Given the description of an element on the screen output the (x, y) to click on. 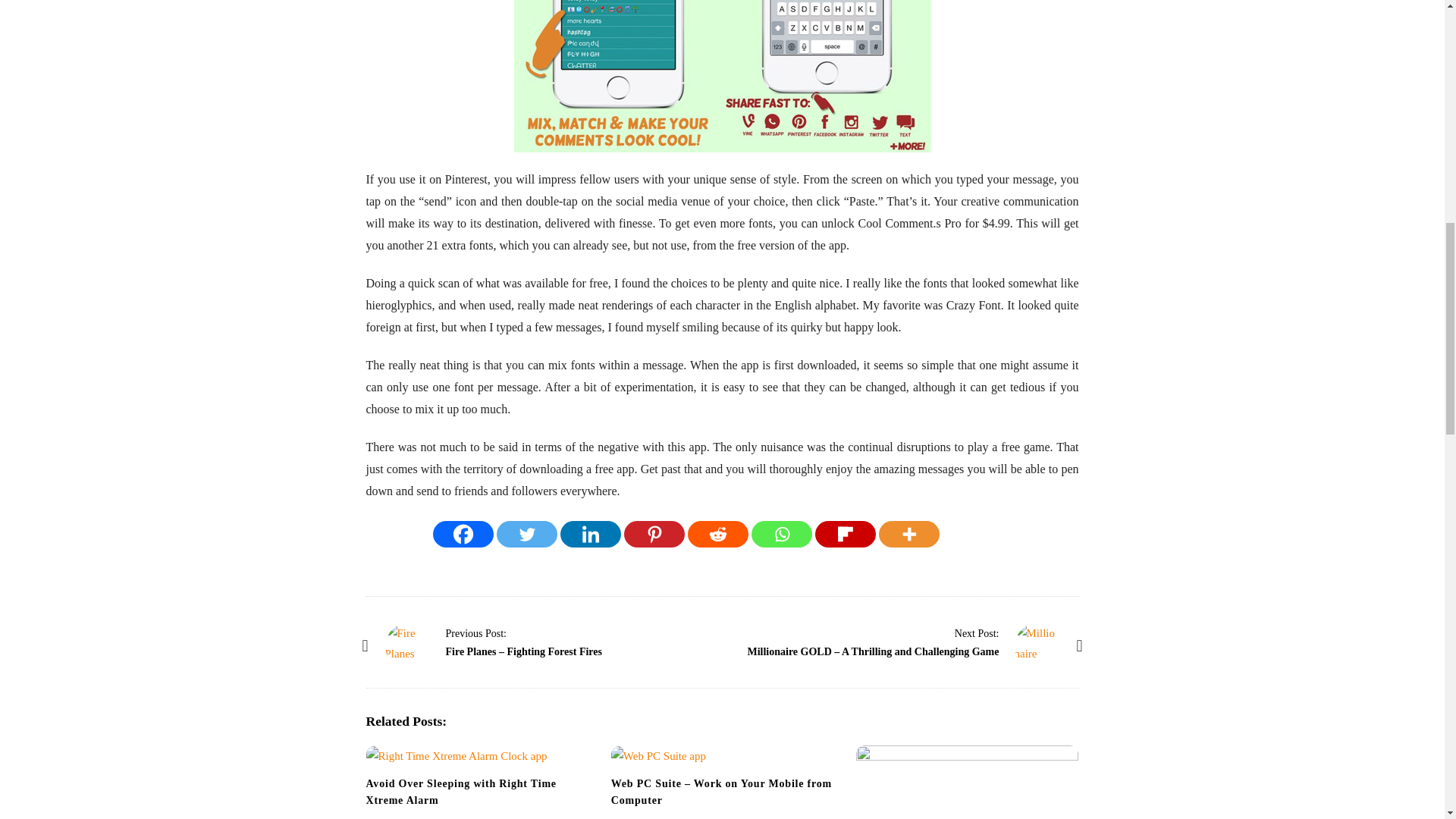
Previous Post: (475, 633)
Linkedin (590, 533)
Next Post: (976, 633)
Avoid Over Sleeping with Right Time Xtreme Alarm (460, 791)
More (909, 533)
Flipboard (845, 533)
Reddit (717, 533)
Whatsapp (781, 533)
Pinterest (654, 533)
Facebook (462, 533)
Twitter (526, 533)
